Given the description of an element on the screen output the (x, y) to click on. 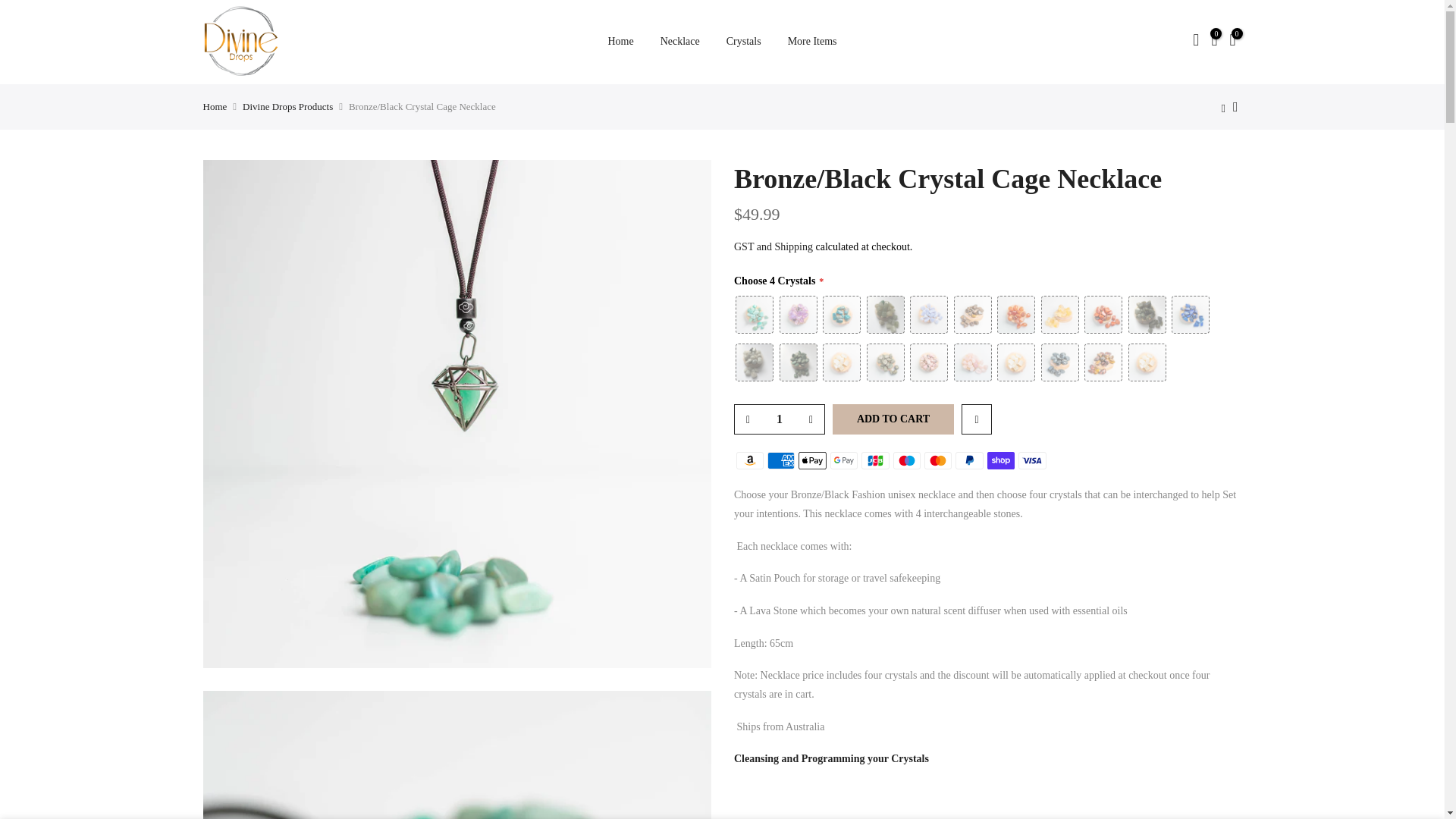
Crystals (743, 41)
Necklace (679, 41)
Shipping (753, 818)
More Items (812, 41)
Home (620, 41)
Divine Drops Products (288, 106)
Home (215, 106)
Cleansing and Programming your Crystals (830, 758)
Shipping Policy (753, 818)
1 (778, 419)
GST and Shipping (772, 246)
ADD TO CART (892, 419)
